Given the description of an element on the screen output the (x, y) to click on. 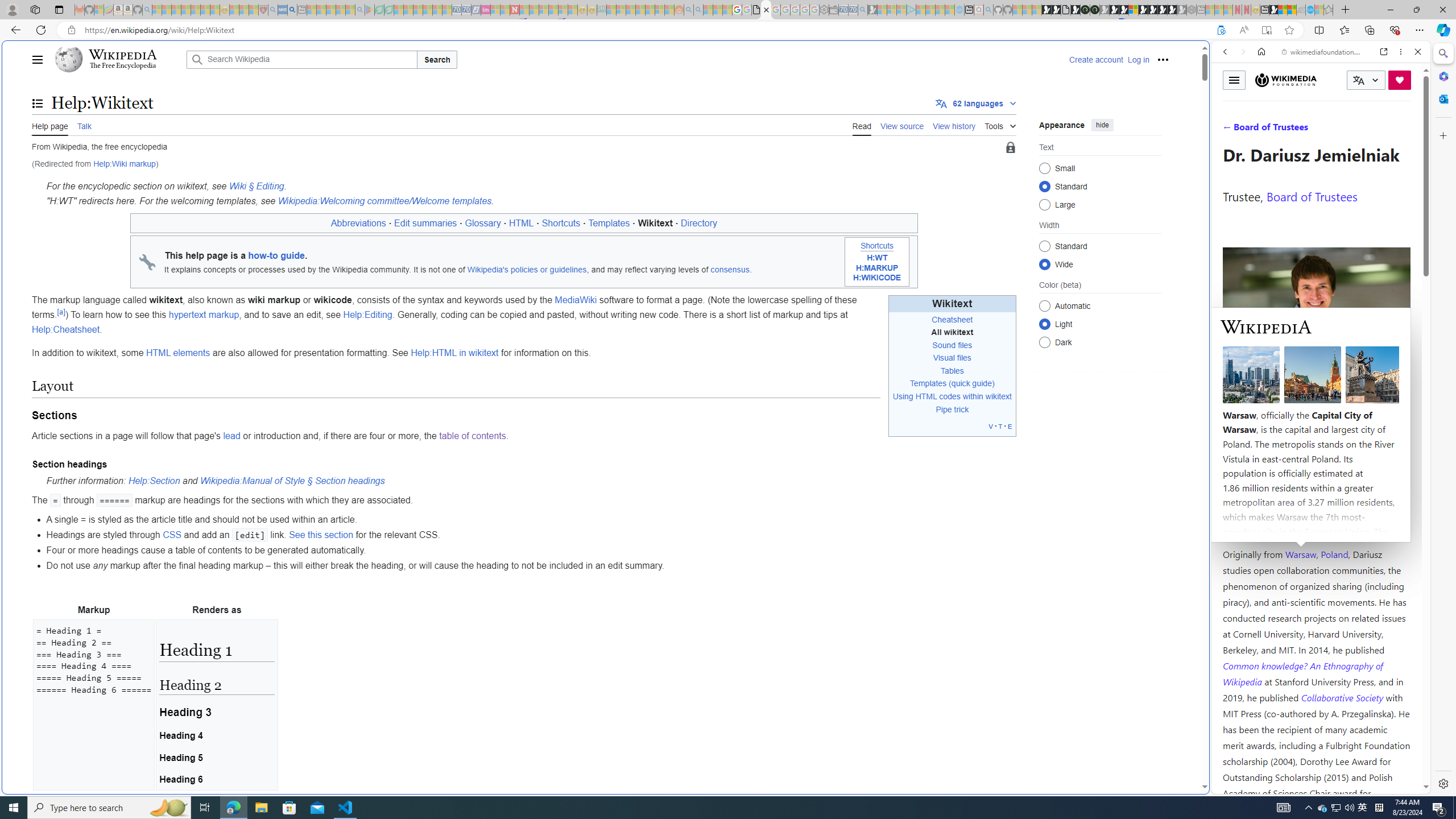
wikimediafoundation.org (1323, 51)
Large (1044, 204)
Harvard University (1259, 526)
Log in (1137, 58)
Sound files (951, 345)
